Given the description of an element on the screen output the (x, y) to click on. 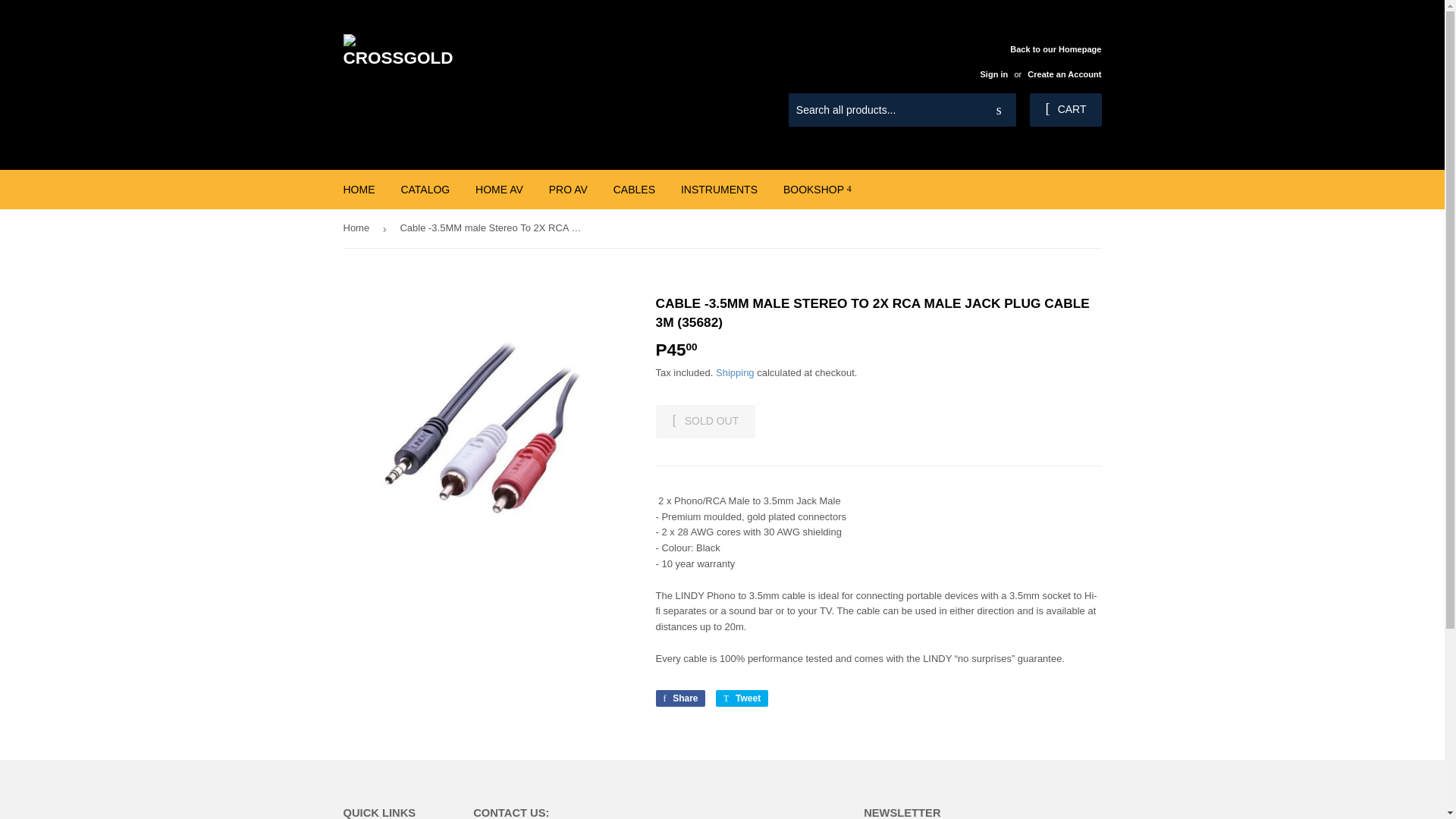
PRO AV (567, 189)
HOME (359, 189)
CATALOG (424, 189)
Back to our Homepage (1034, 60)
Search (998, 110)
INSTRUMENTS (718, 189)
Sign in (993, 73)
Tweet on Twitter (742, 698)
CABLES (634, 189)
Create an Account (1063, 73)
